Given the description of an element on the screen output the (x, y) to click on. 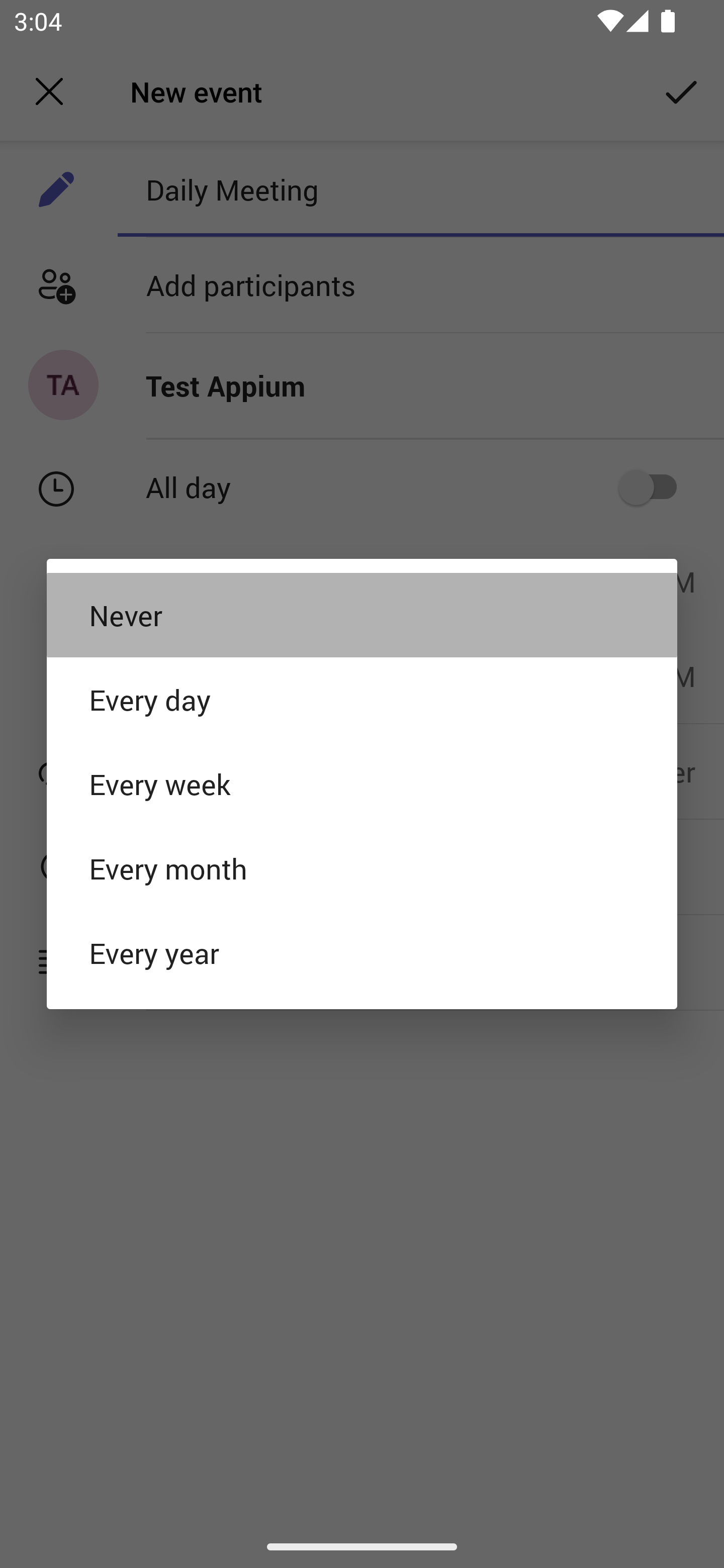
Never (361, 614)
Every day (361, 698)
Every week (361, 783)
Every month (361, 868)
Every year (361, 953)
